Given the description of an element on the screen output the (x, y) to click on. 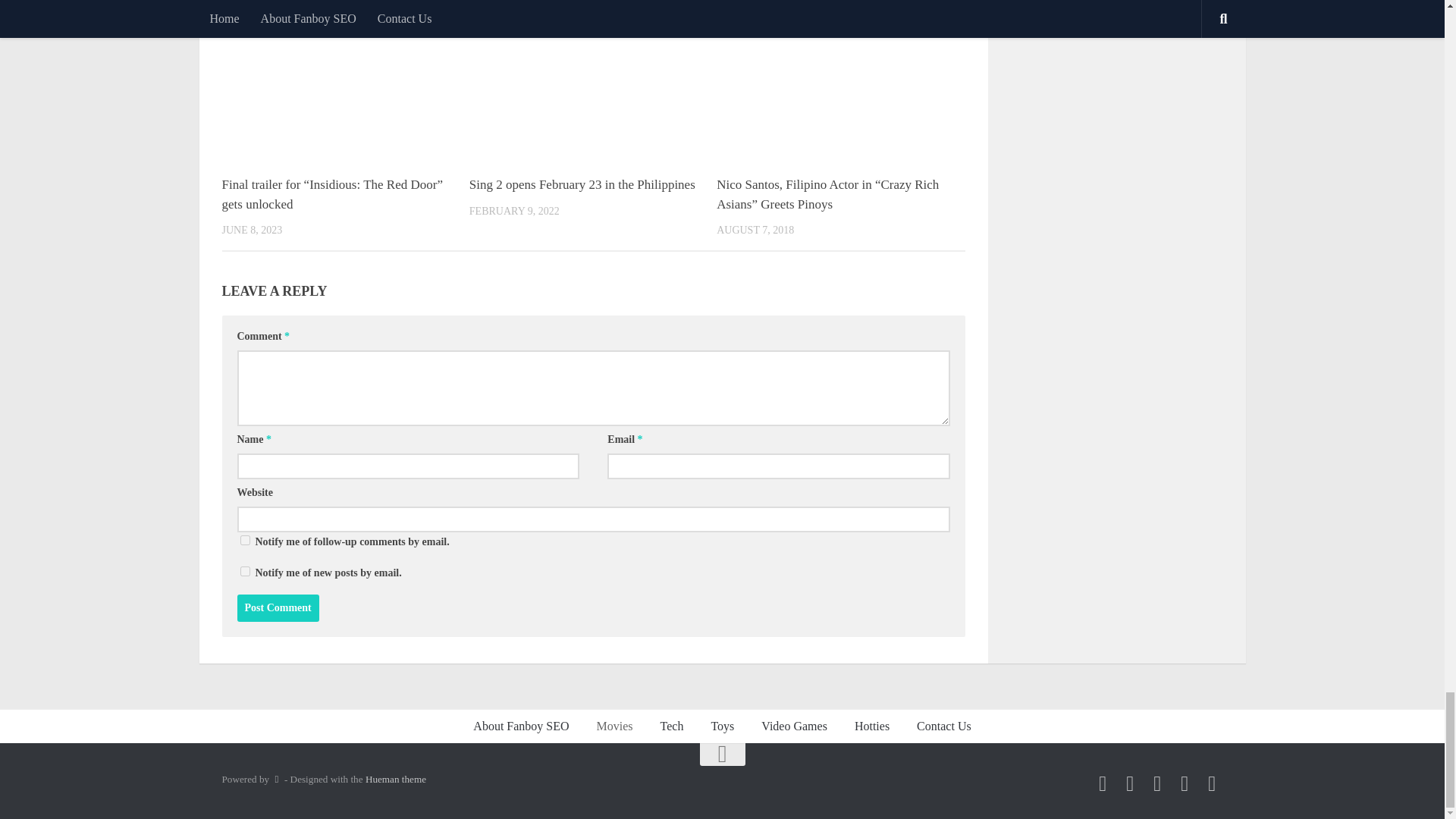
Post Comment (276, 607)
subscribe (244, 540)
subscribe (244, 571)
